Given the description of an element on the screen output the (x, y) to click on. 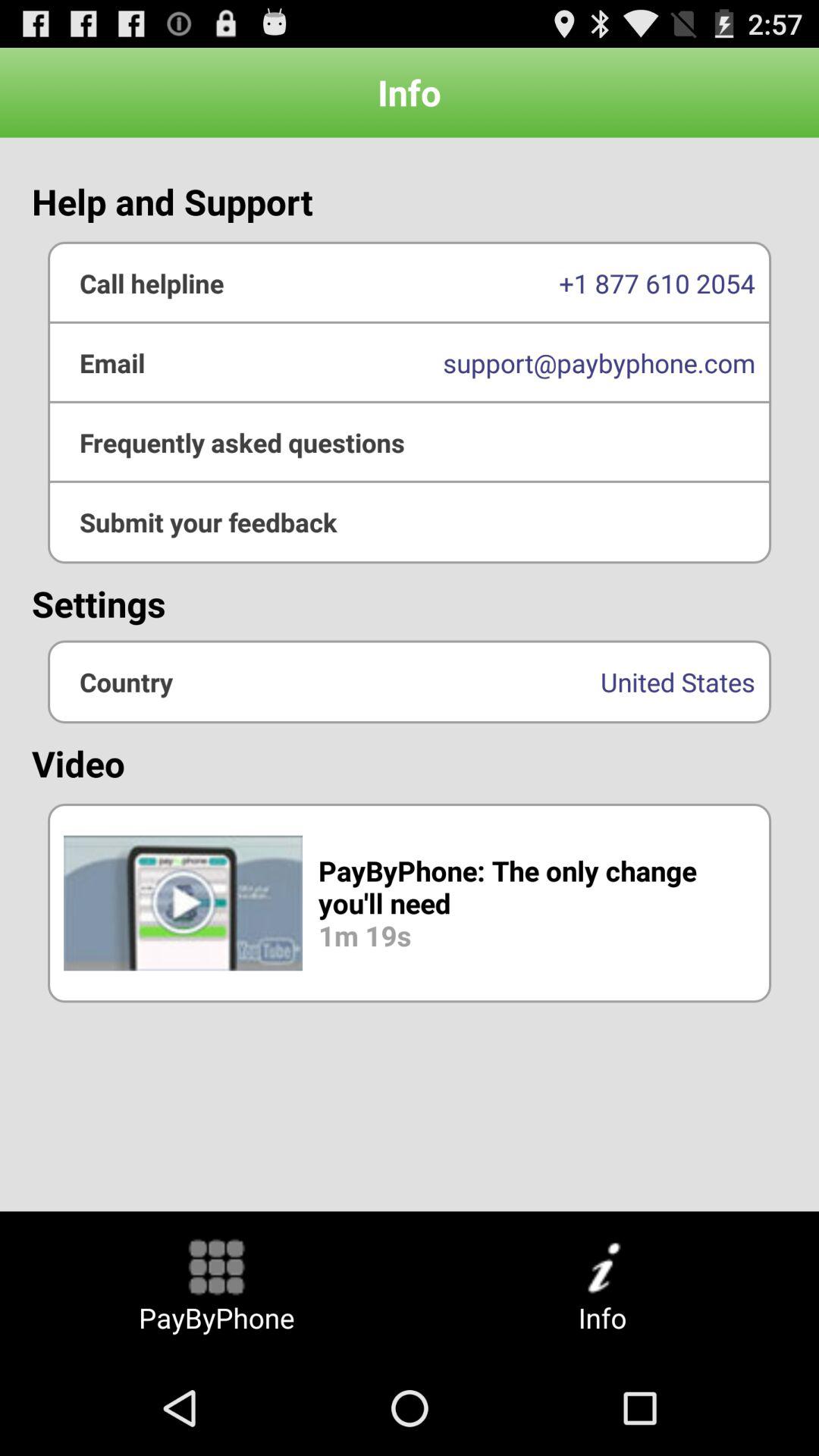
tap icon below the support@paybyphone.com item (409, 521)
